Given the description of an element on the screen output the (x, y) to click on. 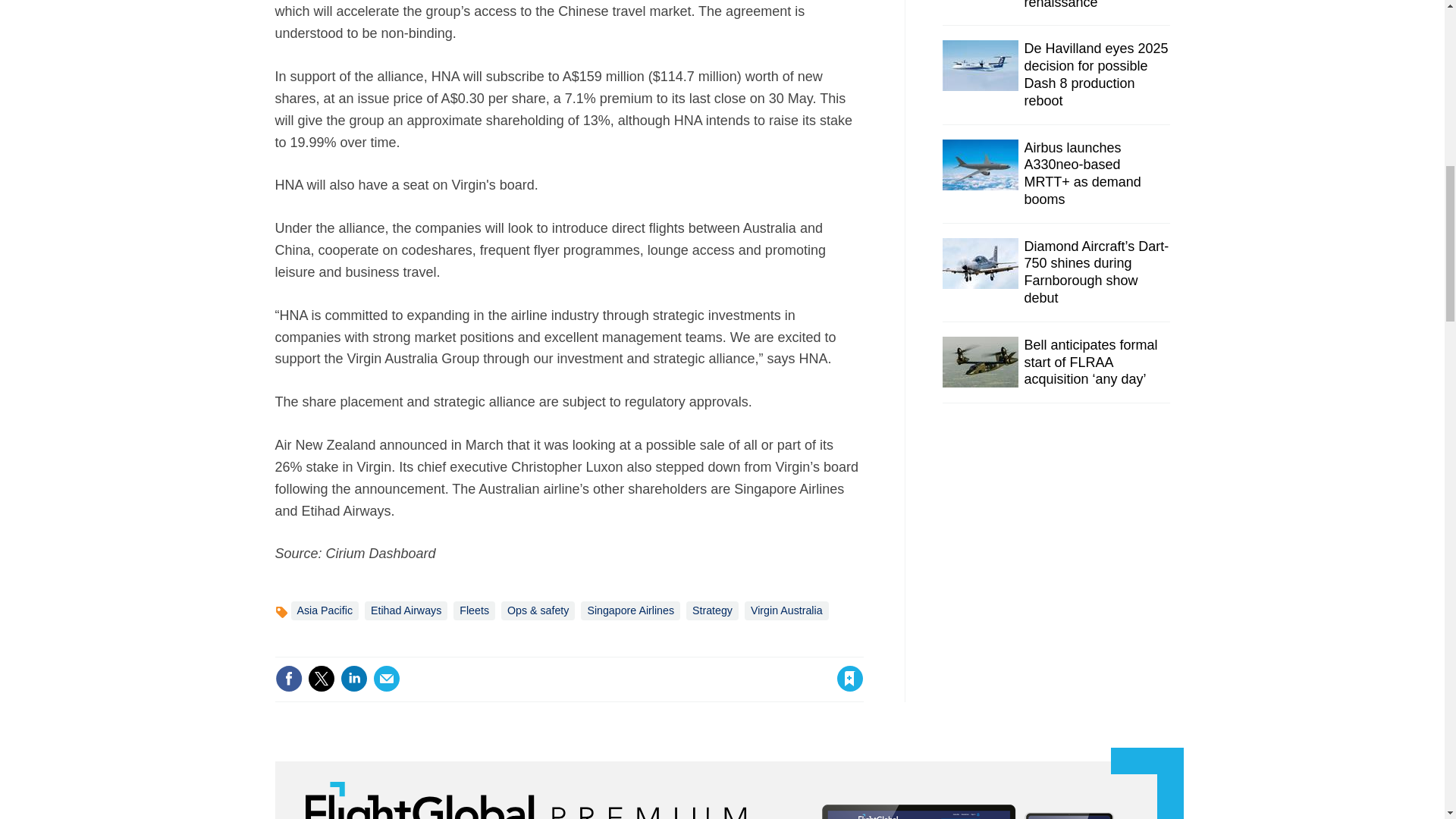
Share this on Linked in (352, 678)
Email this article (386, 678)
Share this on Twitter (320, 678)
Share this on Facebook (288, 678)
